Given the description of an element on the screen output the (x, y) to click on. 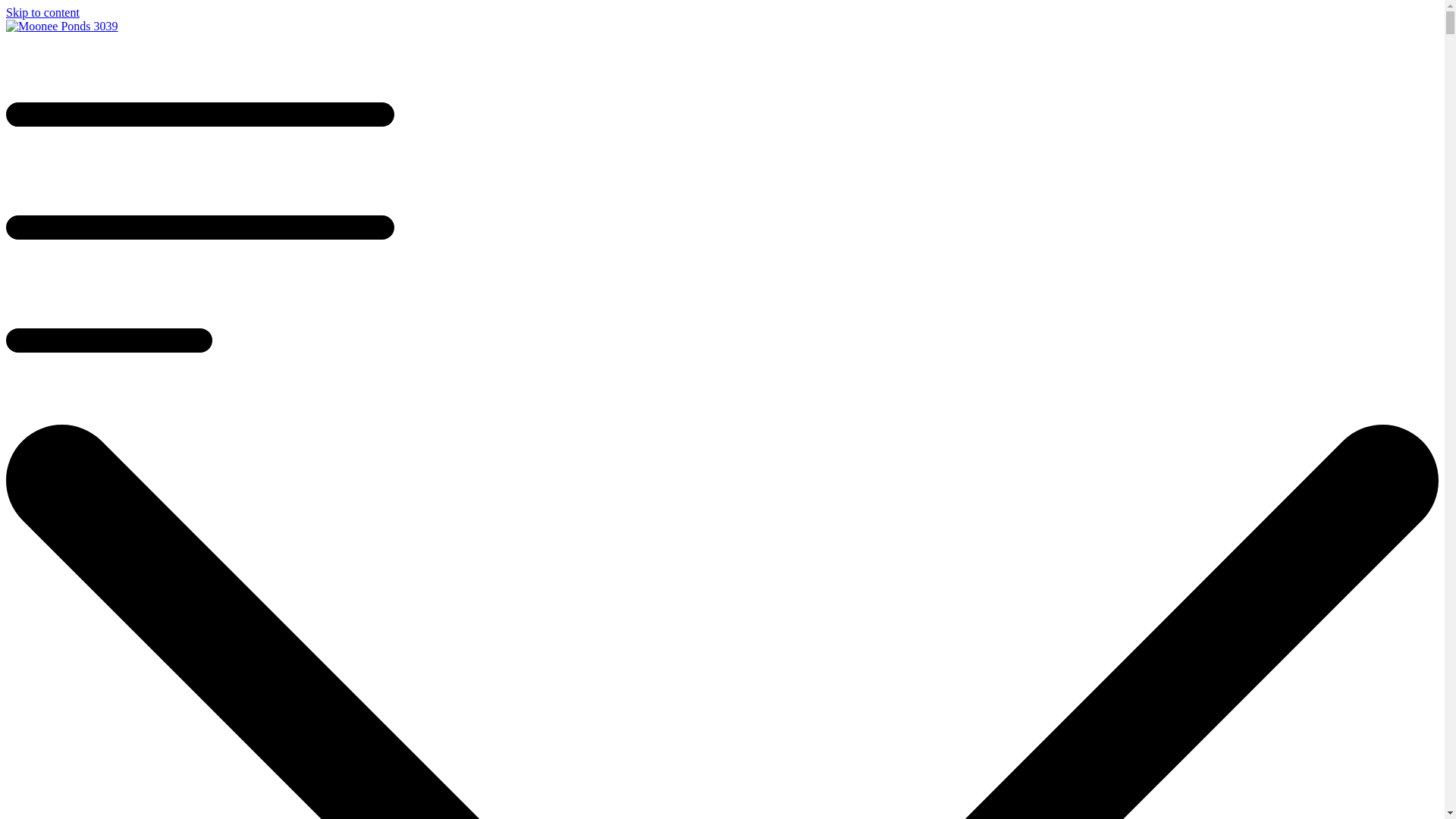
Skip to content (42, 11)
